Given the description of an element on the screen output the (x, y) to click on. 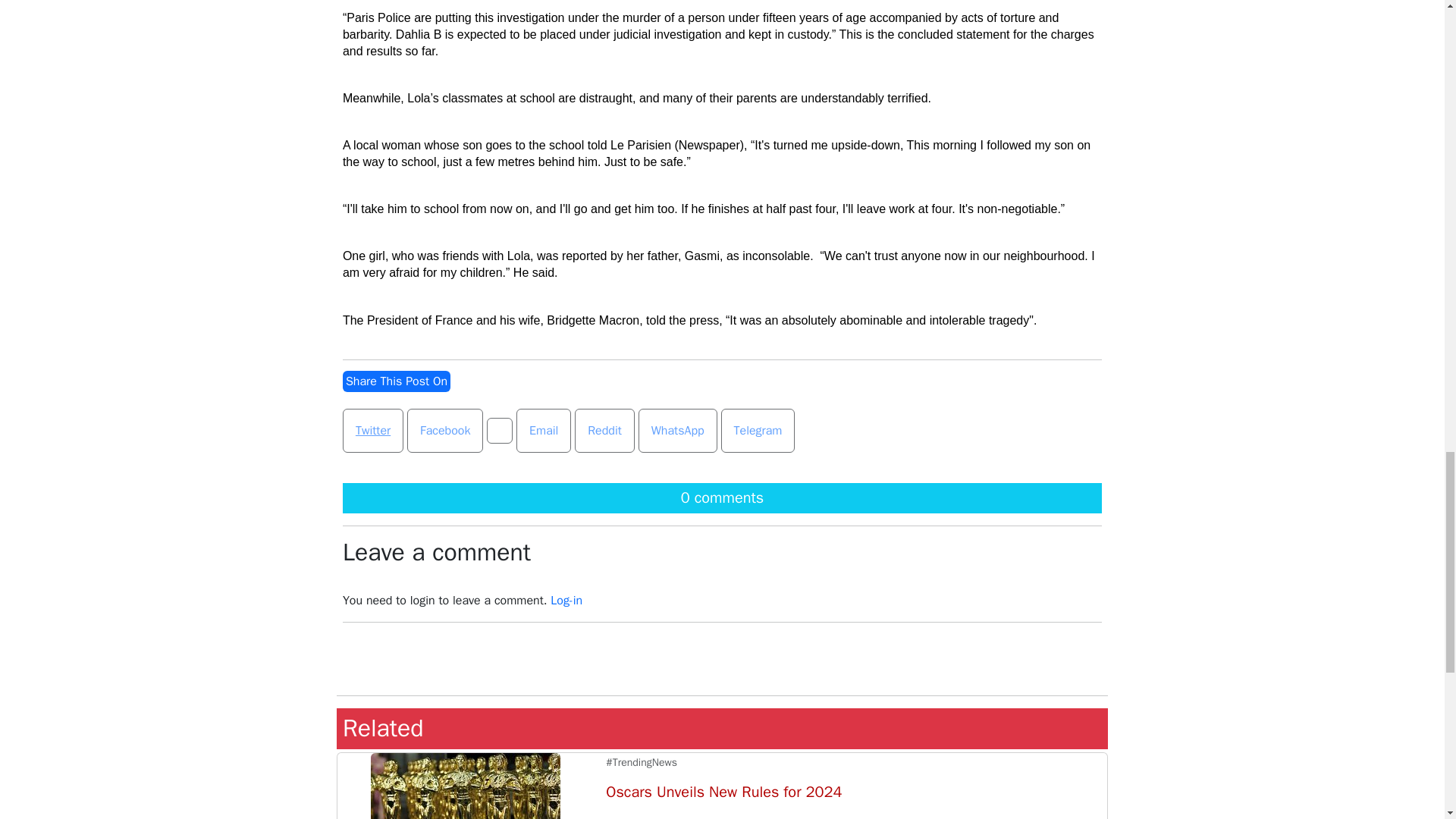
Facebook (445, 430)
Email (543, 430)
Twitter (372, 430)
WhatsApp (678, 430)
Log-in (566, 600)
Twitter (372, 430)
Email (543, 430)
Reddit (604, 430)
Telegram (758, 430)
Facebook (445, 430)
WhatsApp (677, 430)
Reddit (604, 430)
Telegram (757, 430)
